Given the description of an element on the screen output the (x, y) to click on. 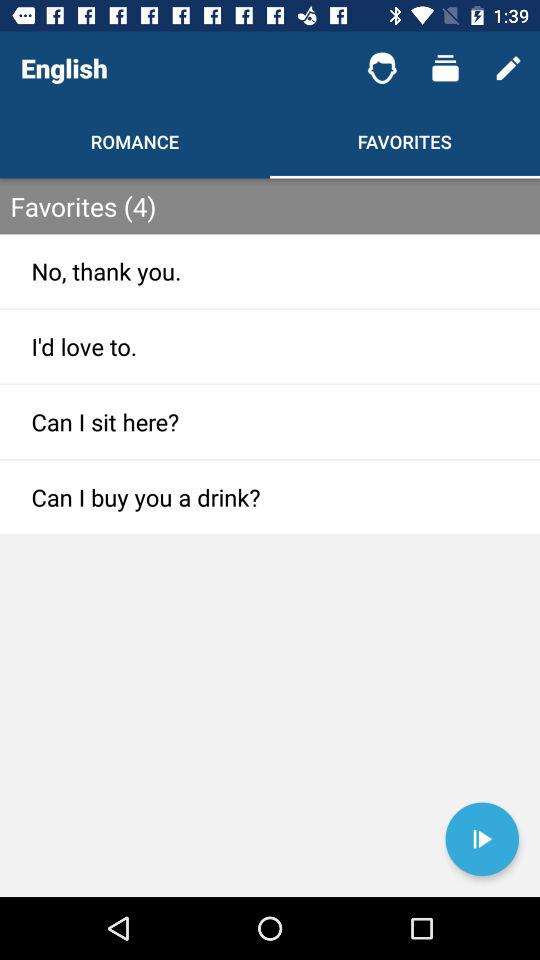
press the item above the favorites (381, 67)
